Given the description of an element on the screen output the (x, y) to click on. 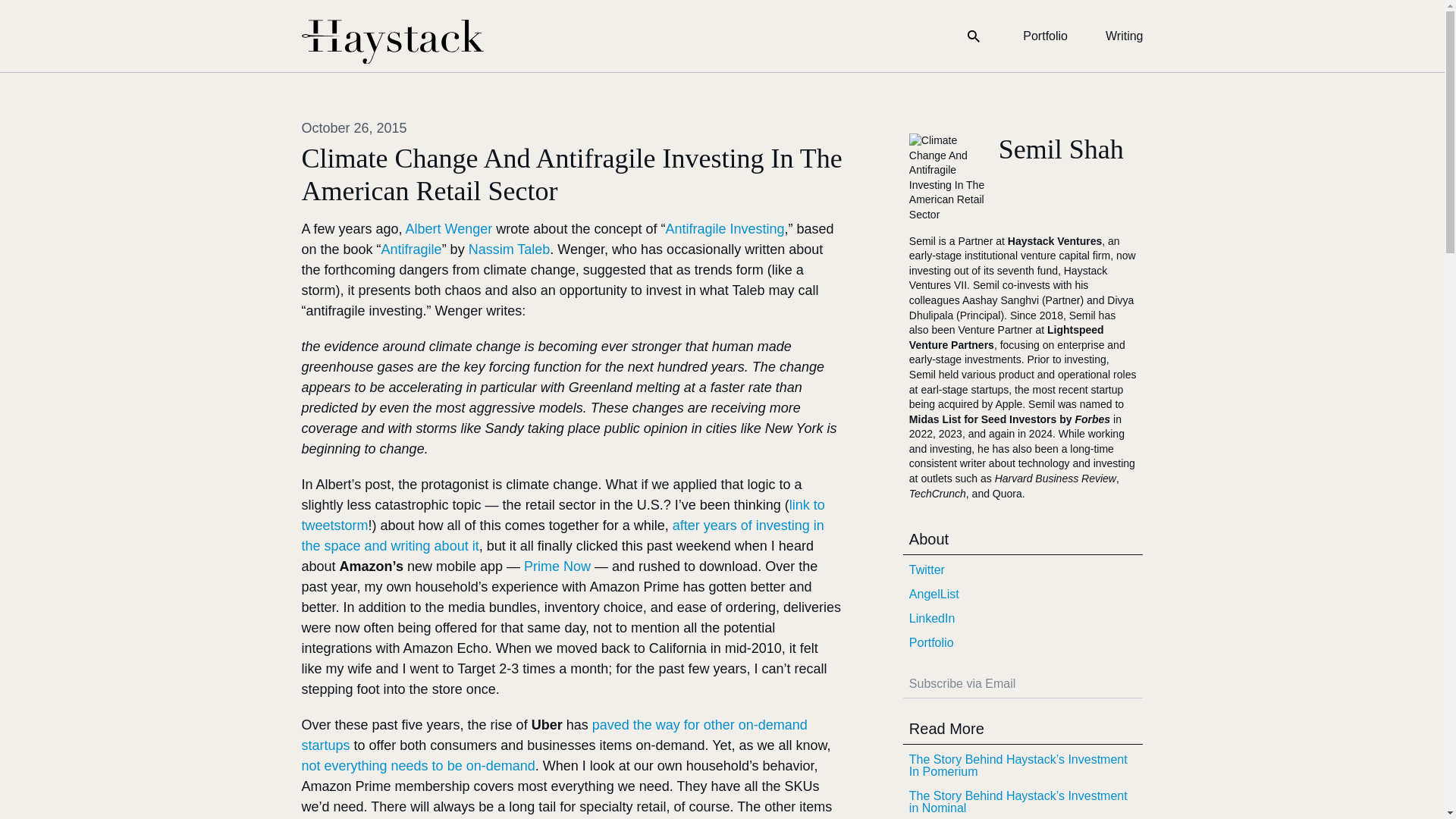
Portfolio (1045, 36)
Writing (1123, 36)
Semil Shah Blog (392, 41)
Portfolio (1022, 642)
Twitter (1022, 569)
Prime Now (557, 566)
Antifragile Investing (724, 228)
Antifragile (411, 249)
Nassim Taleb (509, 249)
link to tweetstorm (563, 515)
